Given the description of an element on the screen output the (x, y) to click on. 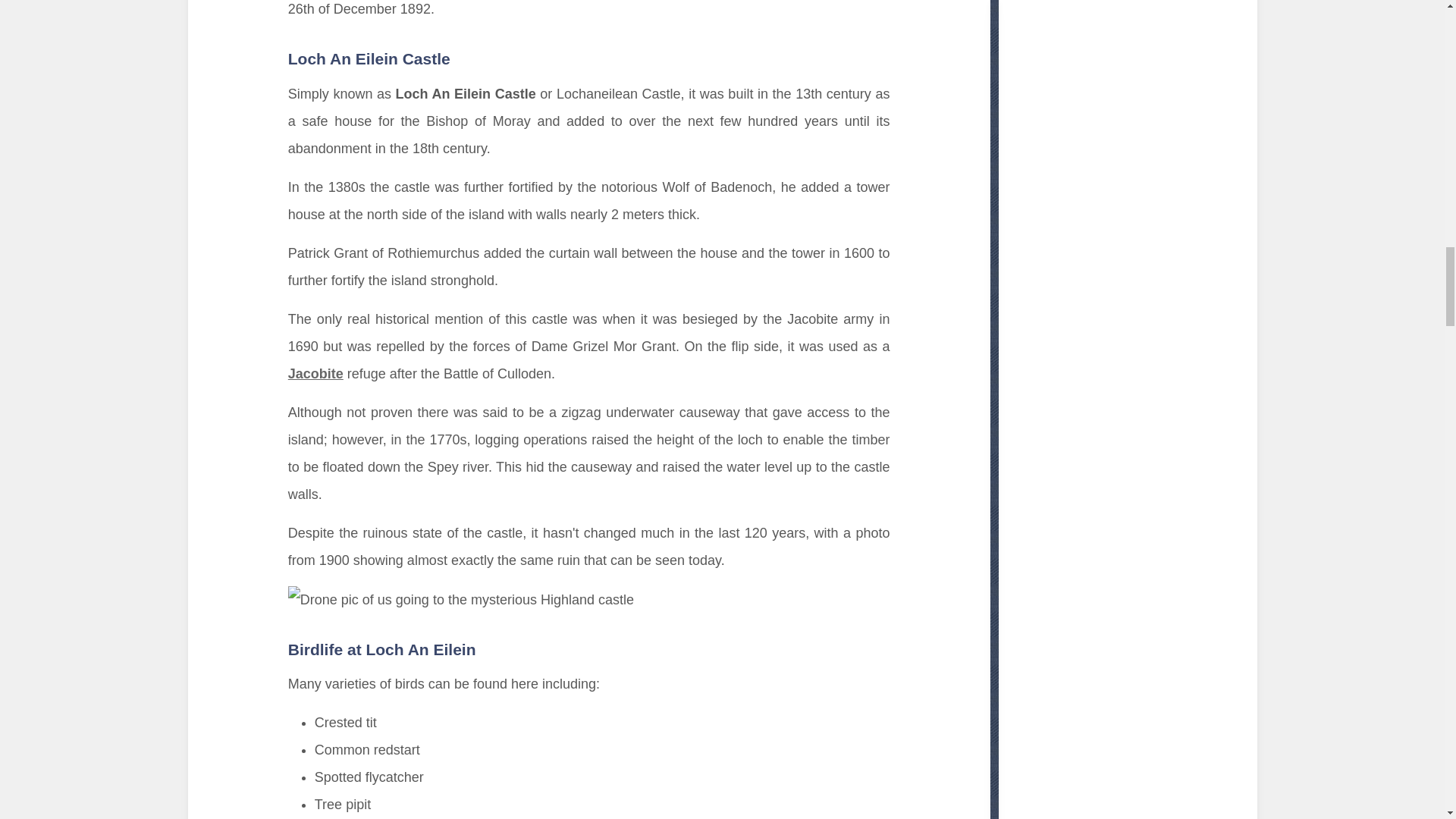
Jacobite (315, 373)
